Given the description of an element on the screen output the (x, y) to click on. 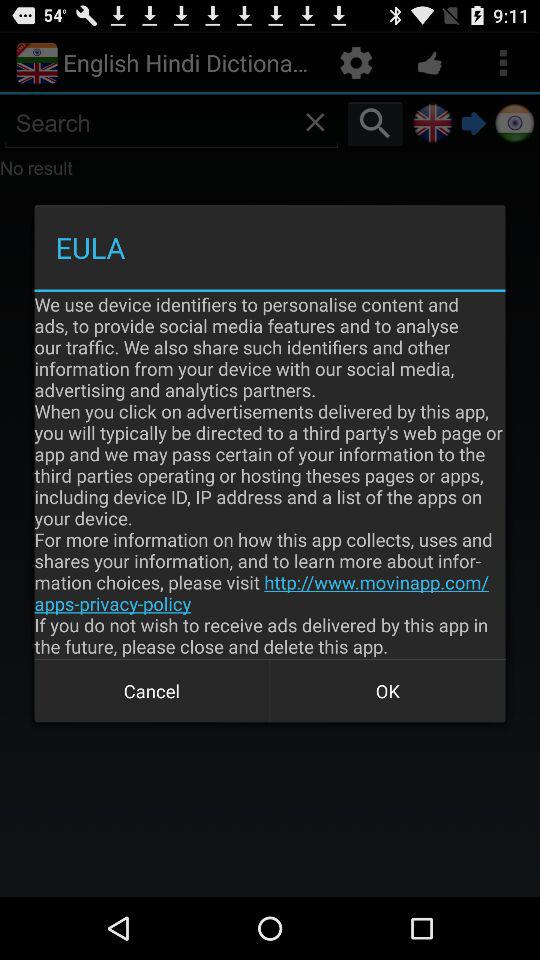
tap the item to the right of cancel icon (387, 690)
